Given the description of an element on the screen output the (x, y) to click on. 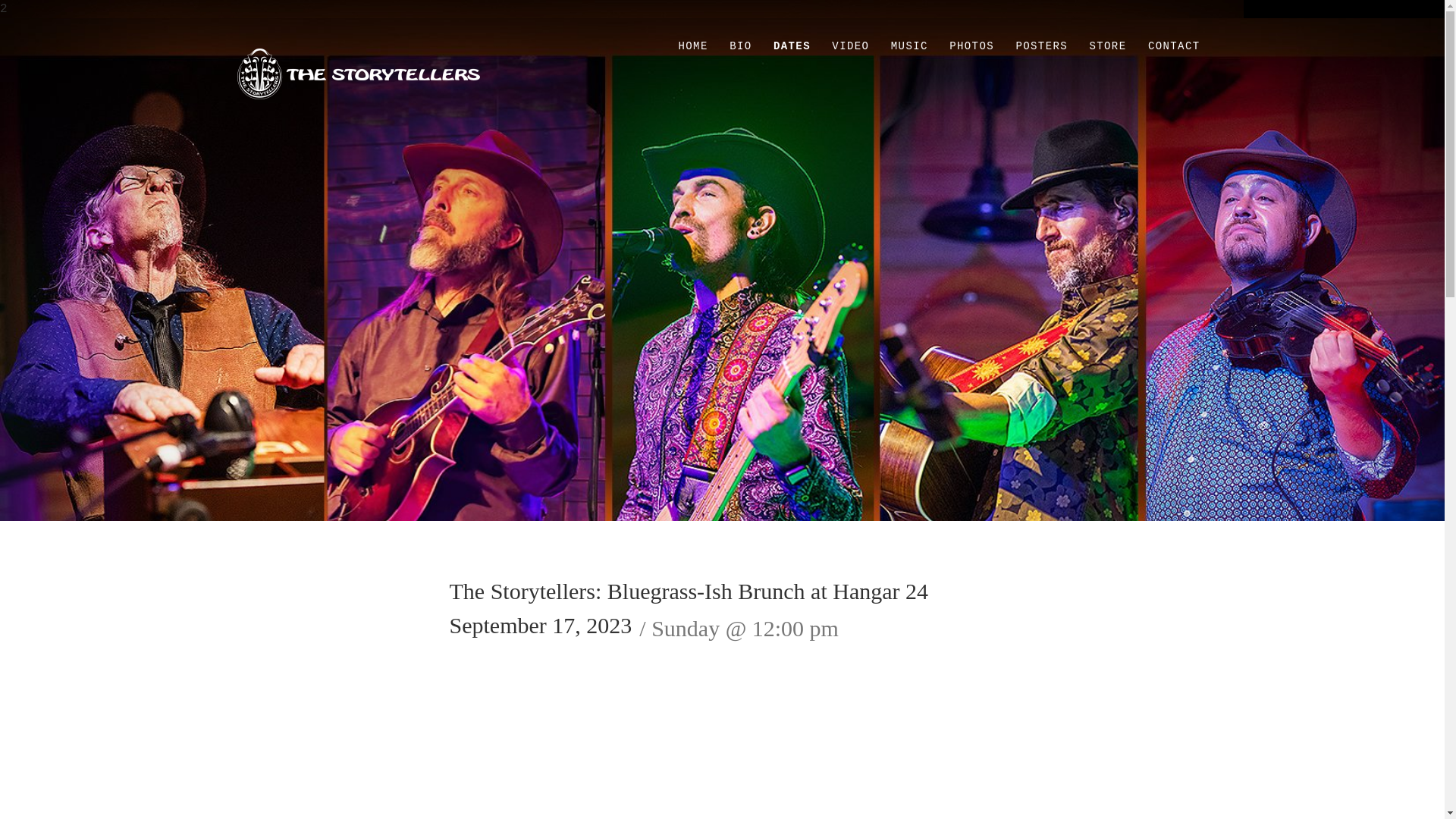
DATES (791, 46)
STORE (1107, 46)
MUSIC (909, 46)
HOME (691, 46)
CONTACT (1174, 46)
VIDEO (850, 46)
POSTERS (1041, 46)
BIO (740, 46)
PHOTOS (971, 46)
